Given the description of an element on the screen output the (x, y) to click on. 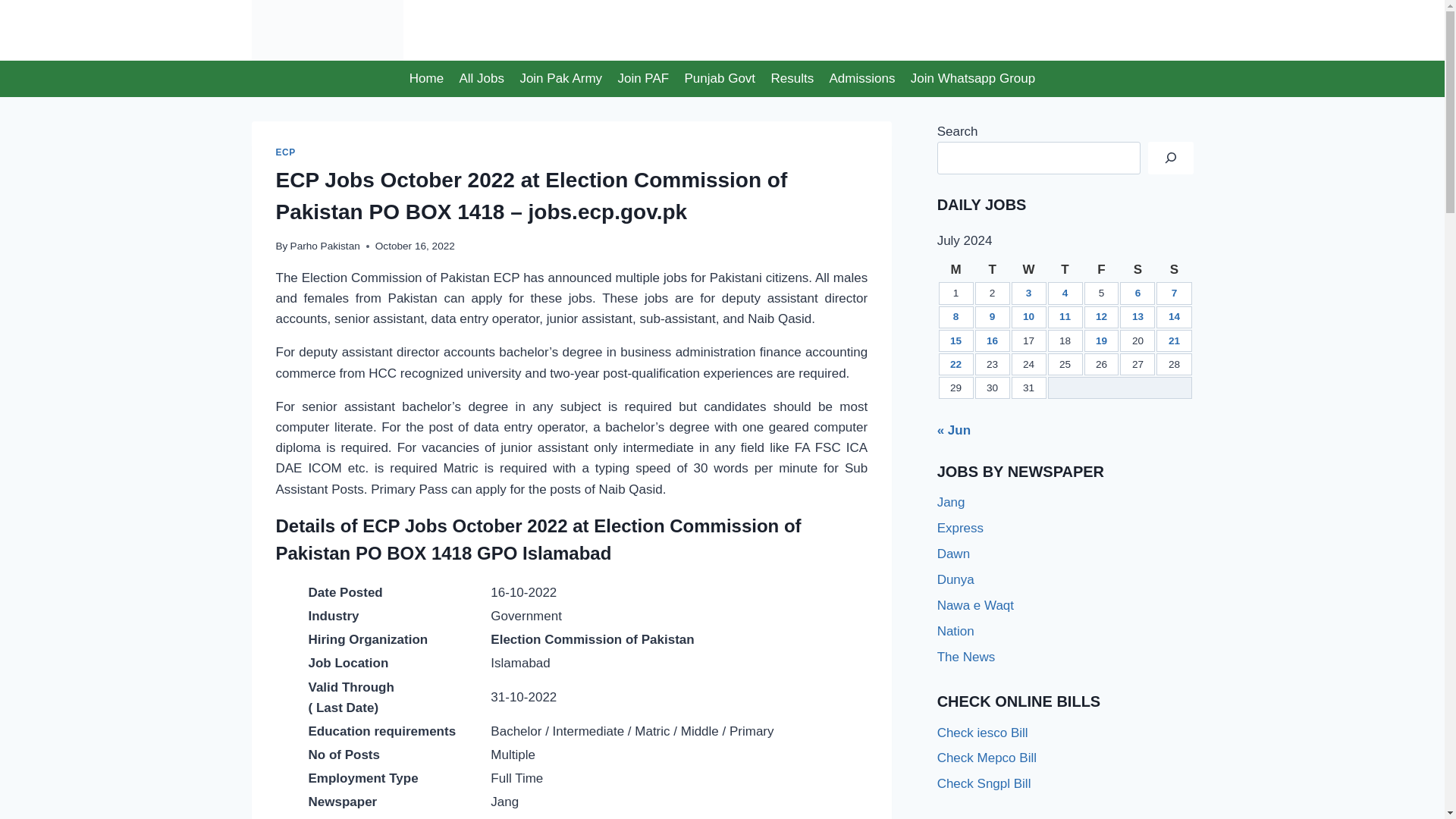
Tuesday (992, 269)
Join Pak Army (561, 78)
Admissions (861, 78)
Punjab Govt (719, 78)
Join Whatsapp Group (972, 78)
Join PAF (643, 78)
Saturday (1136, 269)
Parho Pakistan (324, 245)
Wednesday (1028, 269)
ECP (285, 152)
Results (791, 78)
Home (426, 78)
Friday (1101, 269)
Thursday (1065, 269)
All Jobs (481, 78)
